Given the description of an element on the screen output the (x, y) to click on. 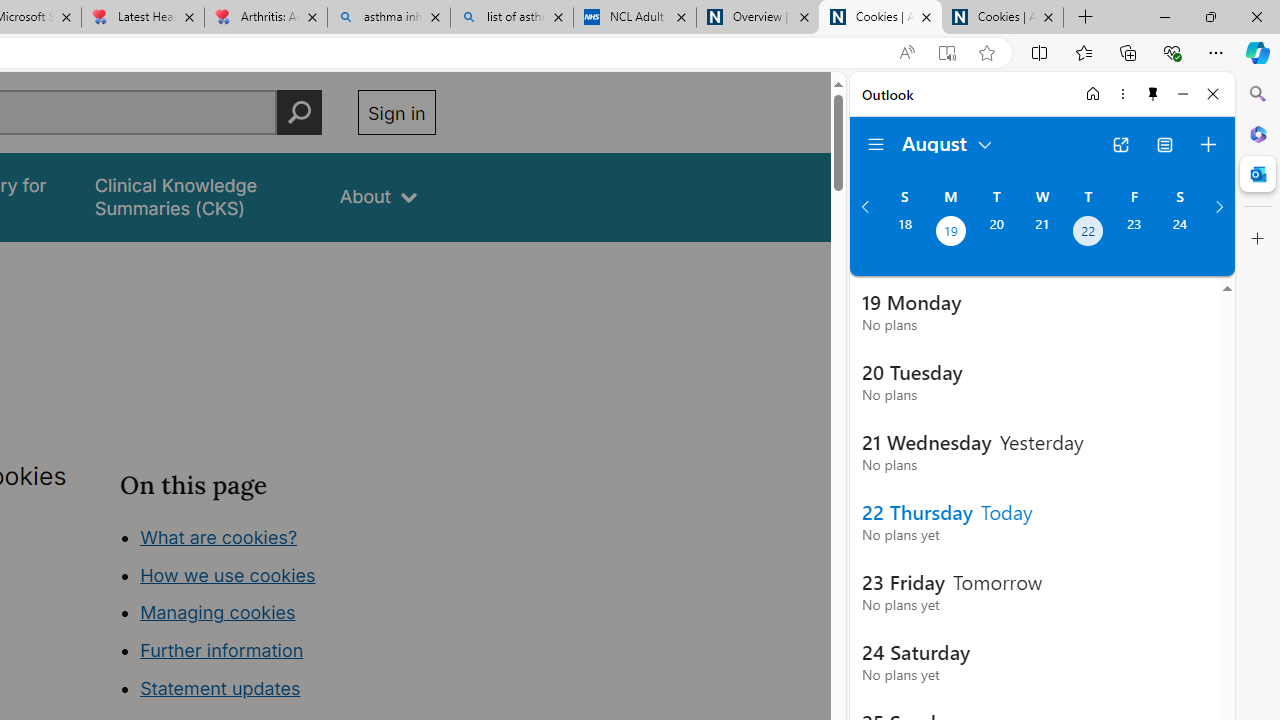
Close (1213, 93)
Managing cookies (217, 612)
View Switcher. Current view is Agenda view (1165, 144)
asthma inhaler - Search (388, 17)
New Tab (1085, 17)
Copilot (Ctrl+Shift+.) (1258, 52)
Tuesday, August 20, 2024.  (996, 233)
More options (1122, 93)
Wednesday, August 21, 2024.  (1042, 233)
August (948, 141)
Close Outlook pane (1258, 174)
Collections (1128, 52)
Favorites (1083, 52)
Close tab (1048, 16)
